Given the description of an element on the screen output the (x, y) to click on. 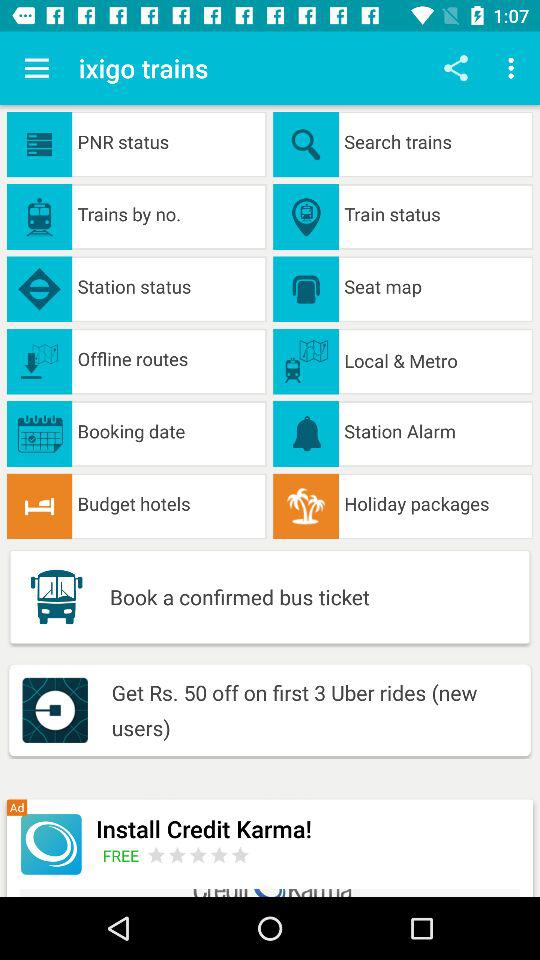
choose item next to ixigo trains item (36, 68)
